Given the description of an element on the screen output the (x, y) to click on. 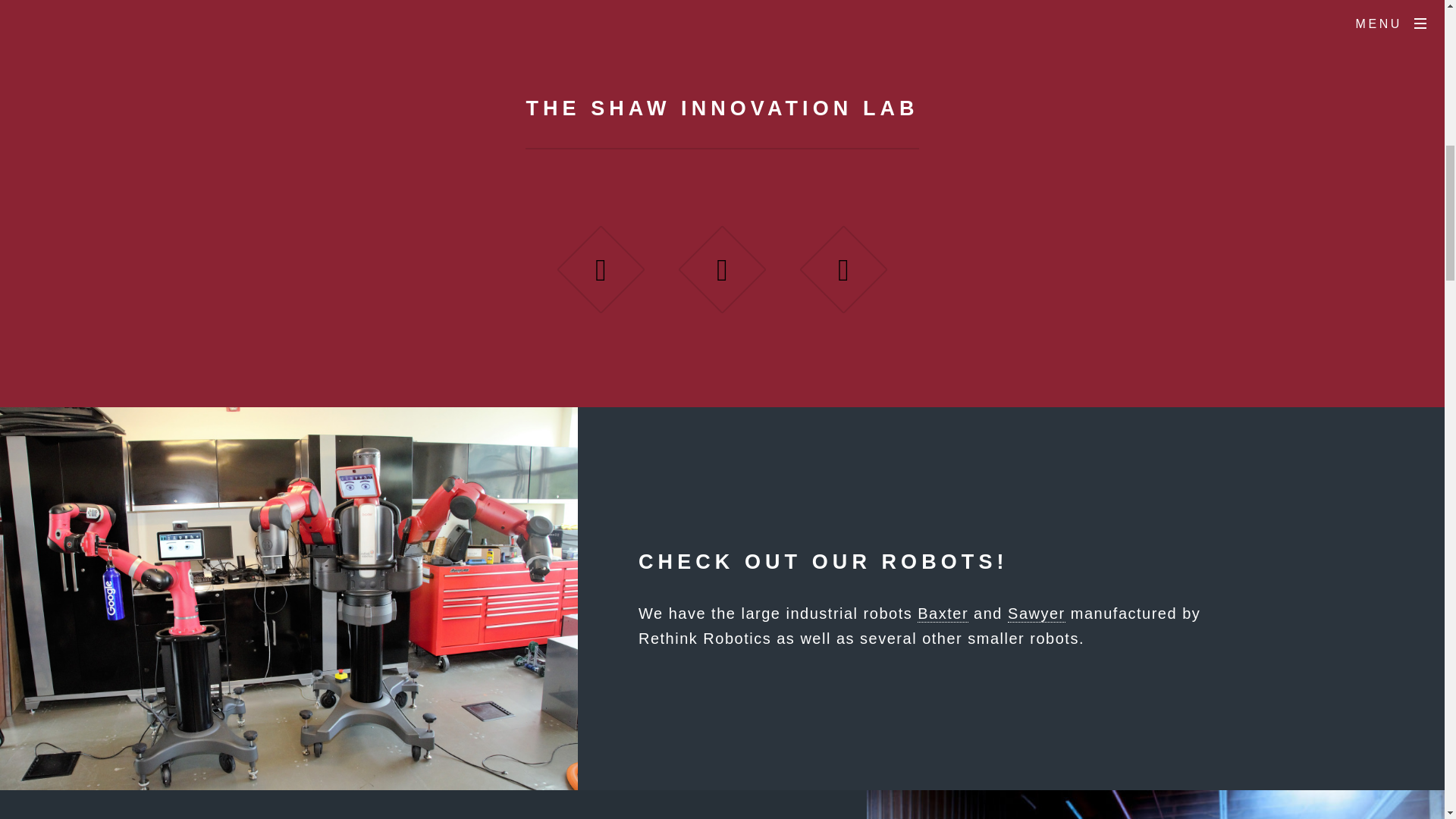
Baxter (942, 613)
Sawyer (1036, 613)
